Given the description of an element on the screen output the (x, y) to click on. 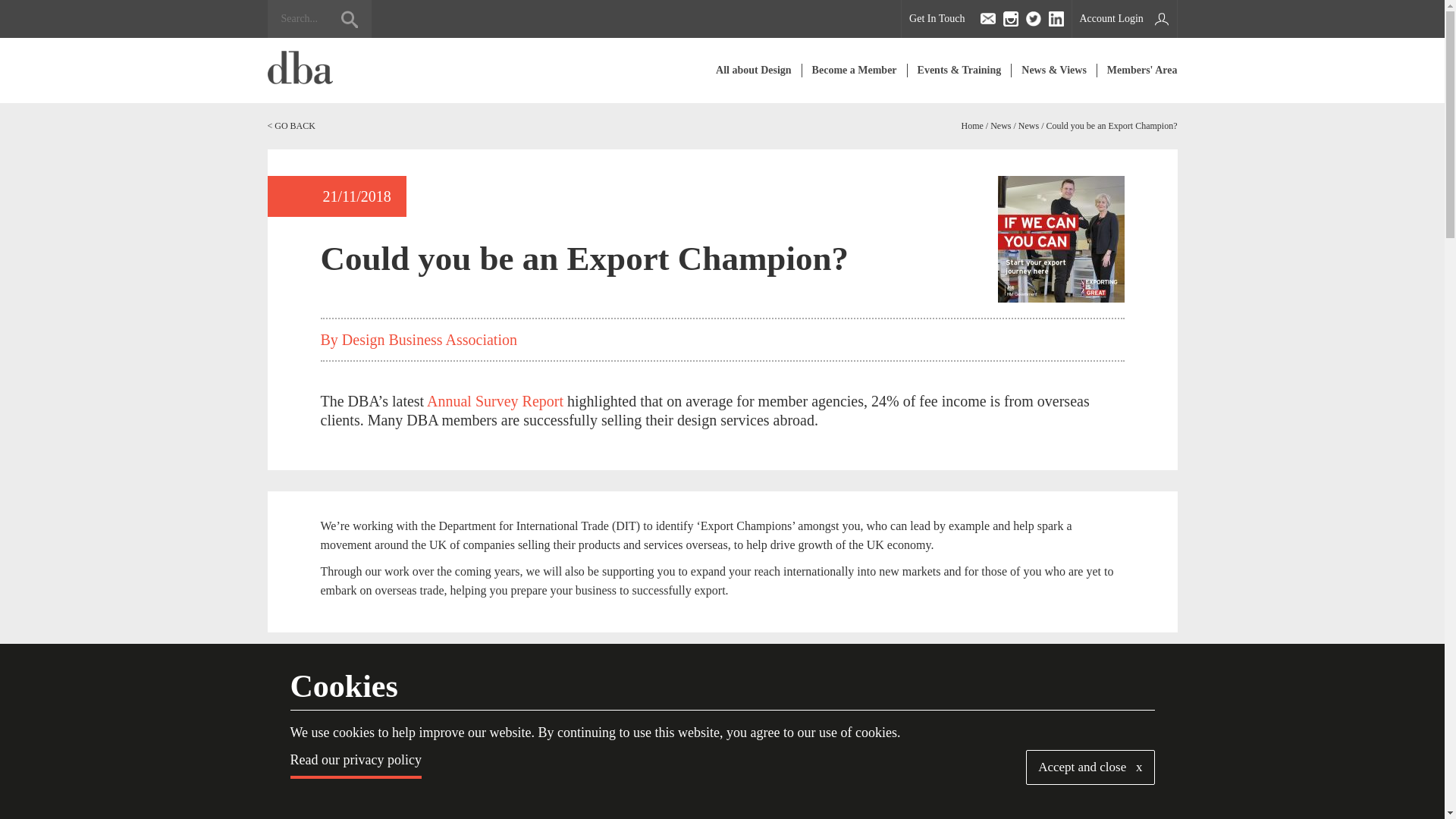
Account Login (1123, 18)
All about Design (754, 70)
Members' Area (1137, 70)
Become a Member (854, 70)
News (1028, 125)
News (1000, 125)
Annual Survey Report (496, 401)
Go to the News category archives. (1000, 125)
Home (972, 125)
Go to Design Business Association. (972, 125)
